Given the description of an element on the screen output the (x, y) to click on. 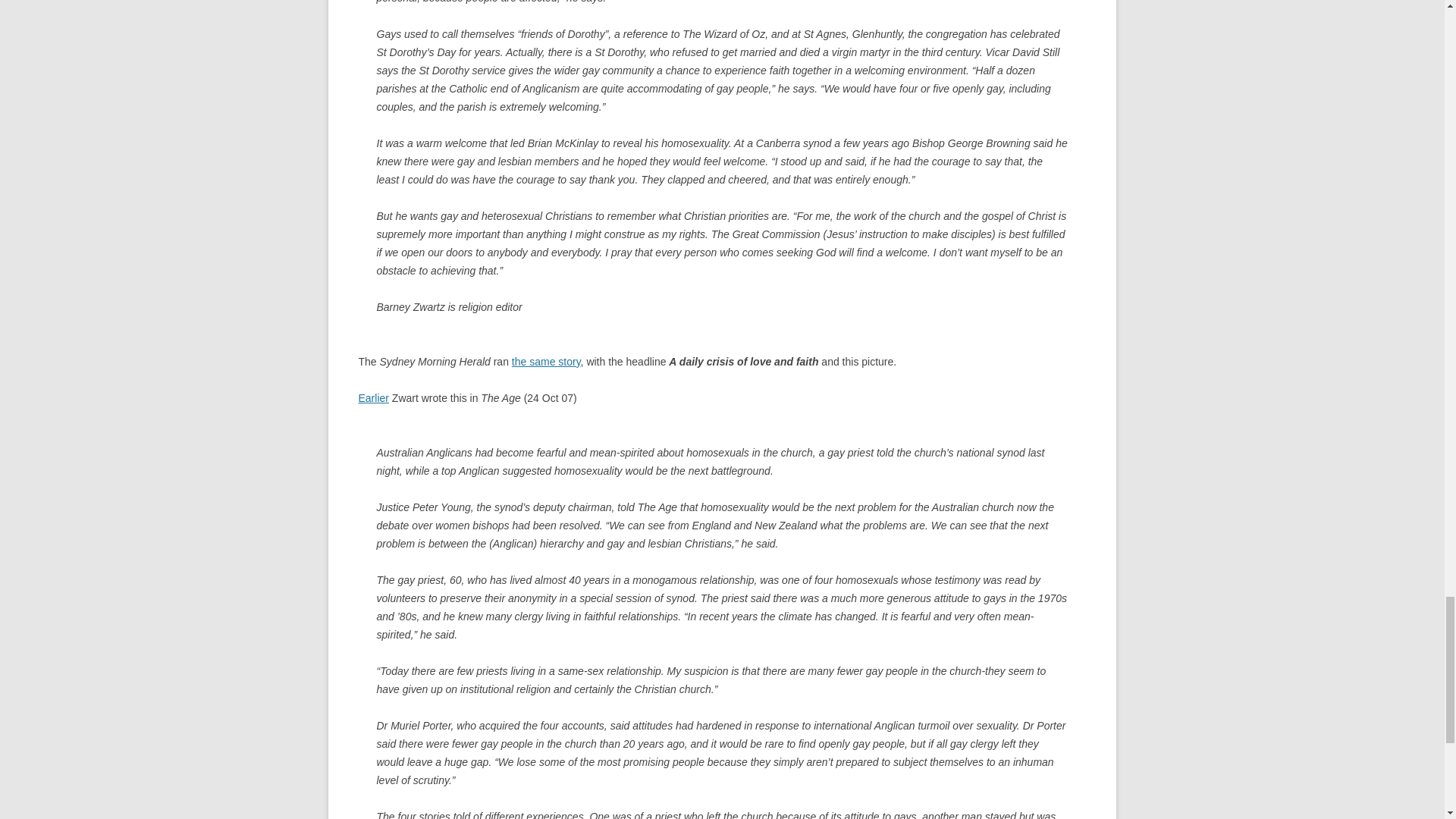
Earlier (373, 398)
the same story (546, 361)
